Given the description of an element on the screen output the (x, y) to click on. 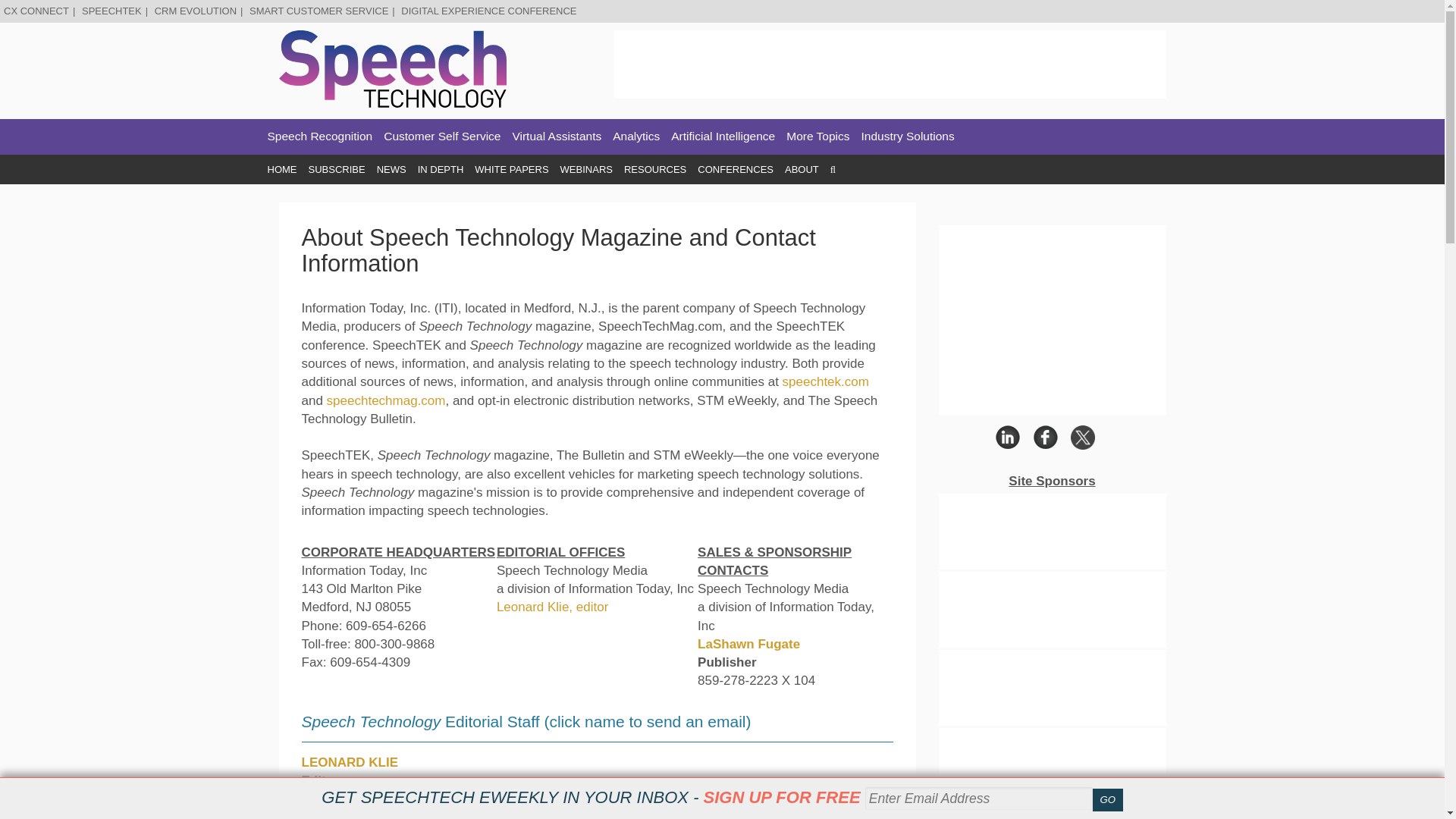
SPEECHTEK (111, 10)
Speech Recognition (319, 136)
Artificial Intelligence (722, 136)
GET SPEECHTECH EWEEKLY IN YOUR INBOX - SIGN UP FOR FREE (590, 797)
Virtual Assistants (556, 136)
More Topics (817, 136)
SMART CUSTOMER SERVICE (318, 10)
CX CONNECT (36, 10)
Virtual Assistants (556, 136)
DIGITAL EXPERIENCE CONFERENCE (488, 10)
Analytics (635, 136)
Industry Solutions (908, 136)
Analytics (635, 136)
Customer Self Service (442, 136)
GO (1107, 799)
